Given the description of an element on the screen output the (x, y) to click on. 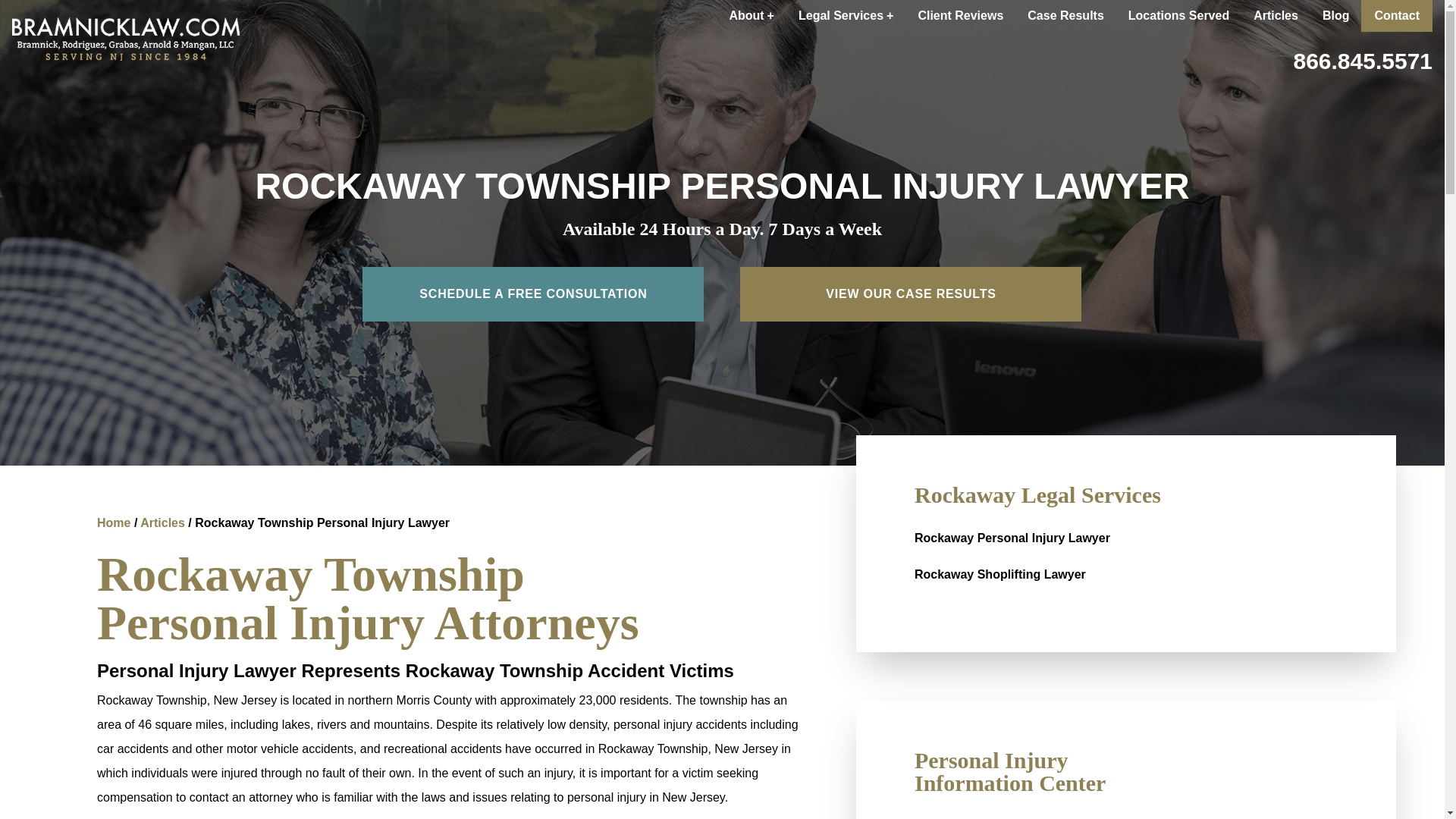
VIEW OUR CASE RESULTS (910, 293)
Client Reviews (959, 15)
SCHEDULE A FREE CONSULTATION (532, 293)
